Given the description of an element on the screen output the (x, y) to click on. 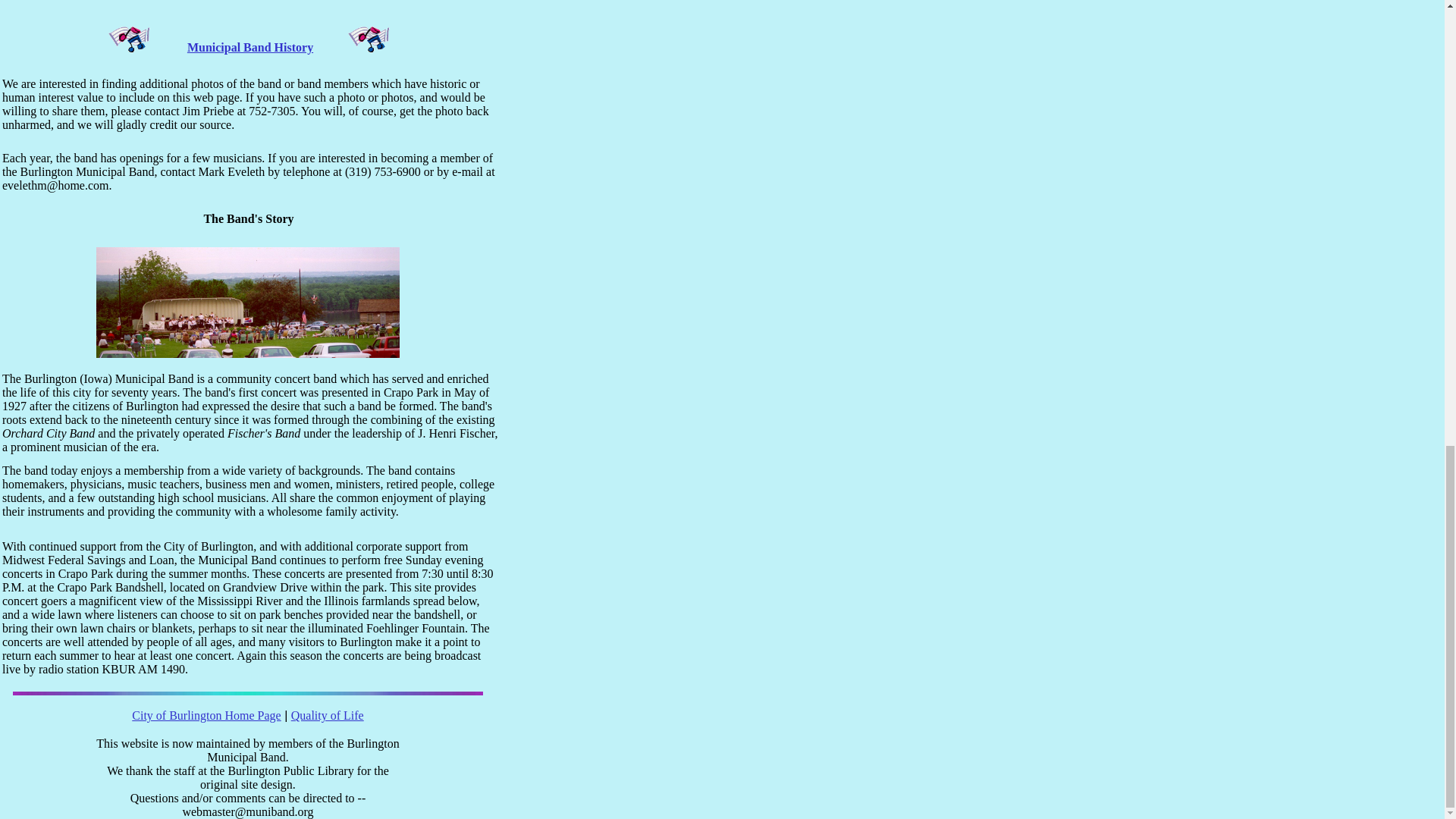
Municipal Band History (250, 47)
Quality of Life (327, 715)
City of Burlington Home Page (206, 715)
